Given the description of an element on the screen output the (x, y) to click on. 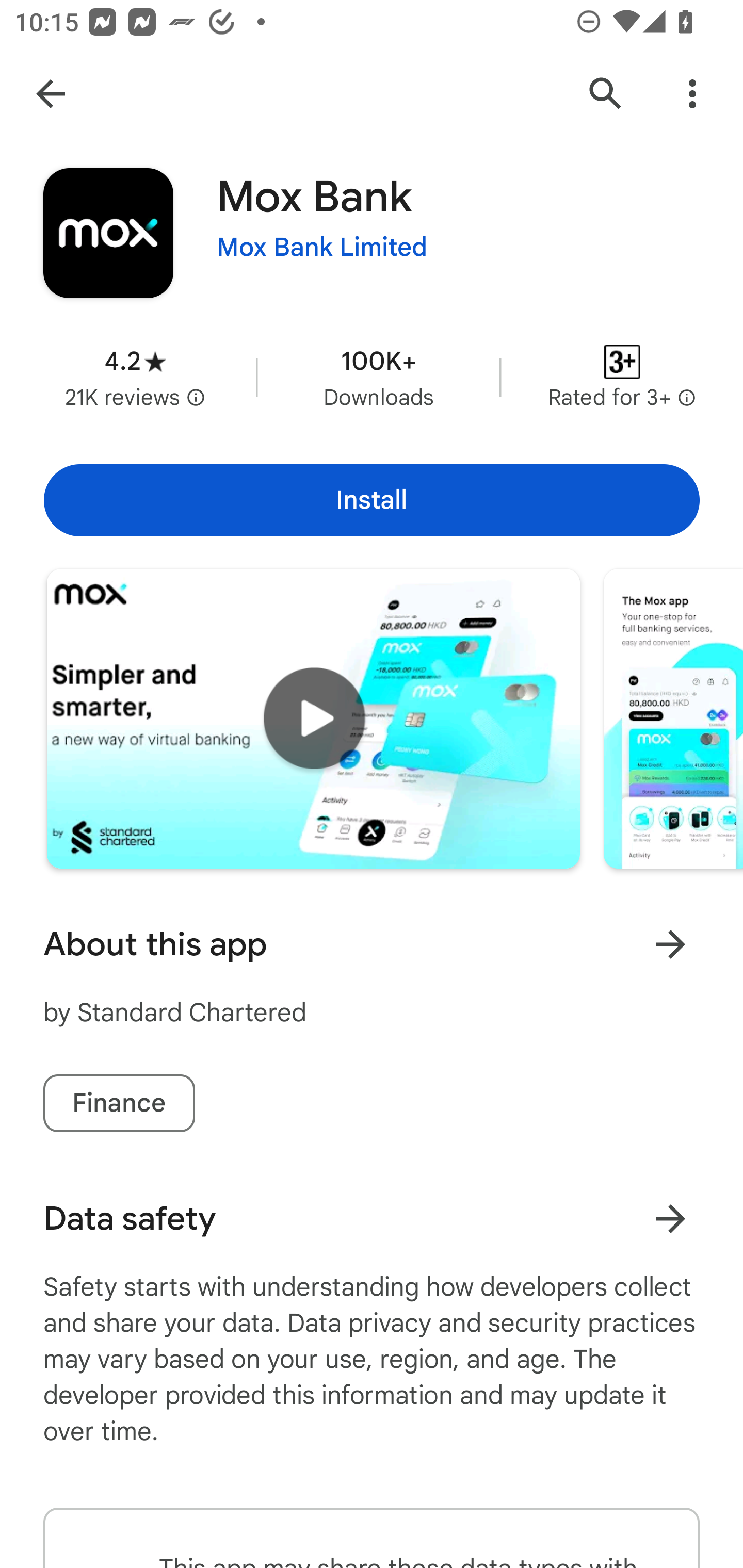
Navigate up (50, 93)
Search Google Play (605, 93)
More Options (692, 93)
Mox Bank Limited (321, 247)
Average rating 4.2 stars in 21 thousand reviews (135, 377)
Content rating Rated for 3+ (622, 377)
Install (371, 500)
Play trailer for "Mox Bank" (313, 718)
About this app Learn more About this app (371, 944)
Learn more About this app (670, 944)
Finance tag (118, 1102)
Data safety Learn more about data safety (371, 1219)
Learn more about data safety (670, 1219)
